Given the description of an element on the screen output the (x, y) to click on. 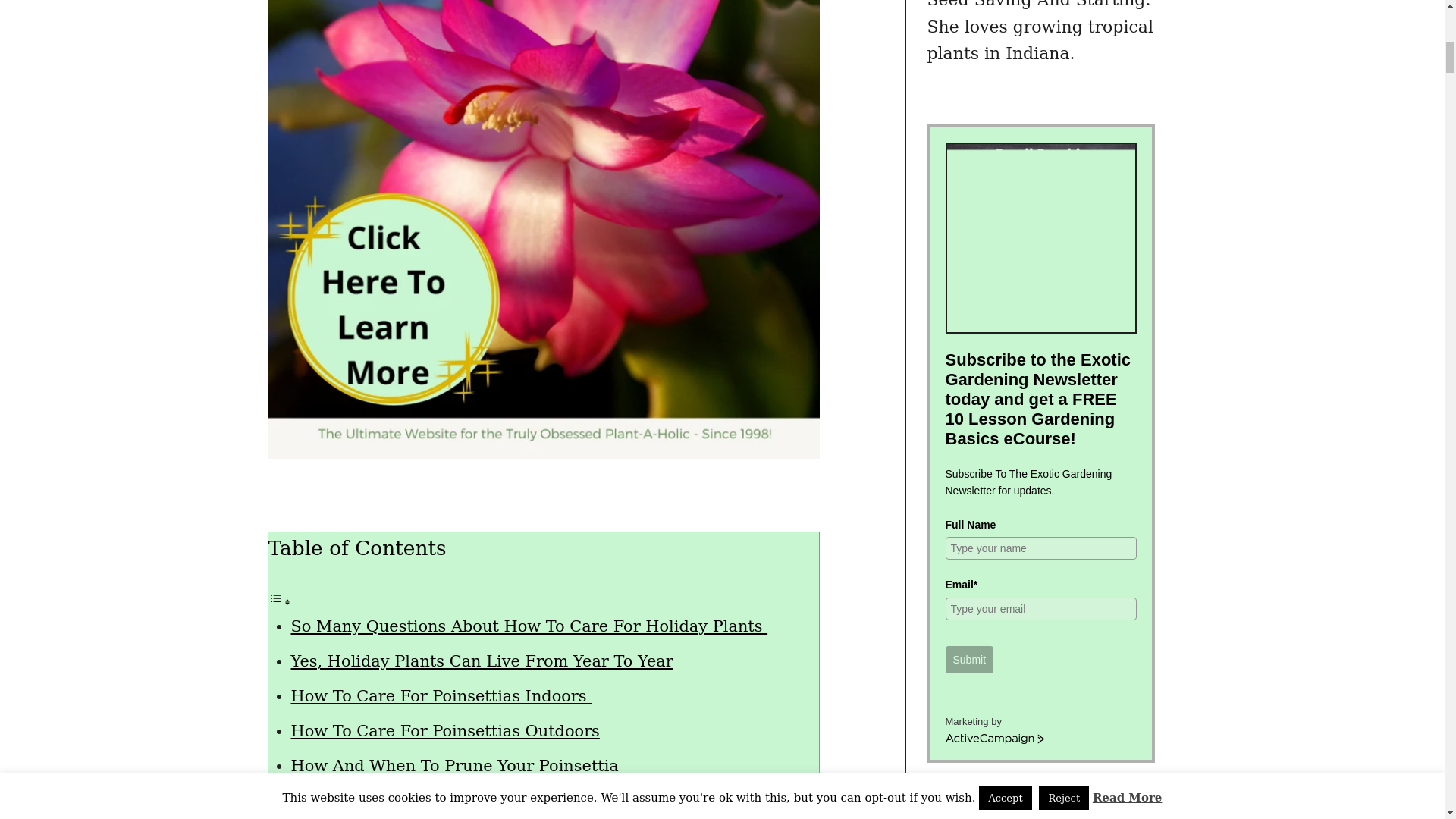
How To Care For Poinsettias Outdoors (445, 730)
How And When To Prune Your Poinsettia (454, 765)
How To Get A Poinsettia To Rebloom (438, 800)
Yes, Holiday Plants Can Live From Year To Year (481, 660)
